Given the description of an element on the screen output the (x, y) to click on. 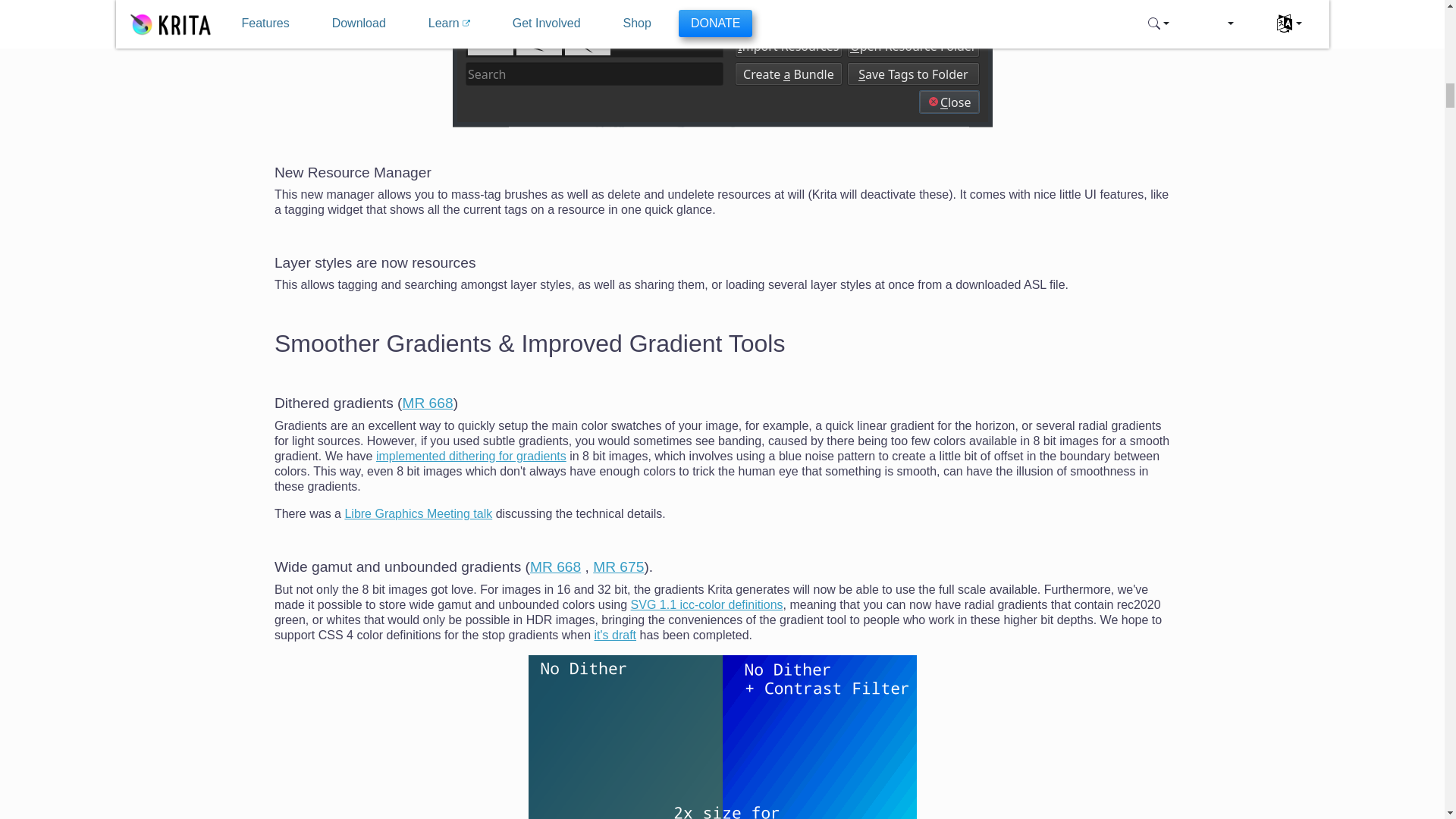
Screenshot of the new resource manager. (721, 63)
Comparison of dithered and non-dithered gradients (721, 737)
